Given the description of an element on the screen output the (x, y) to click on. 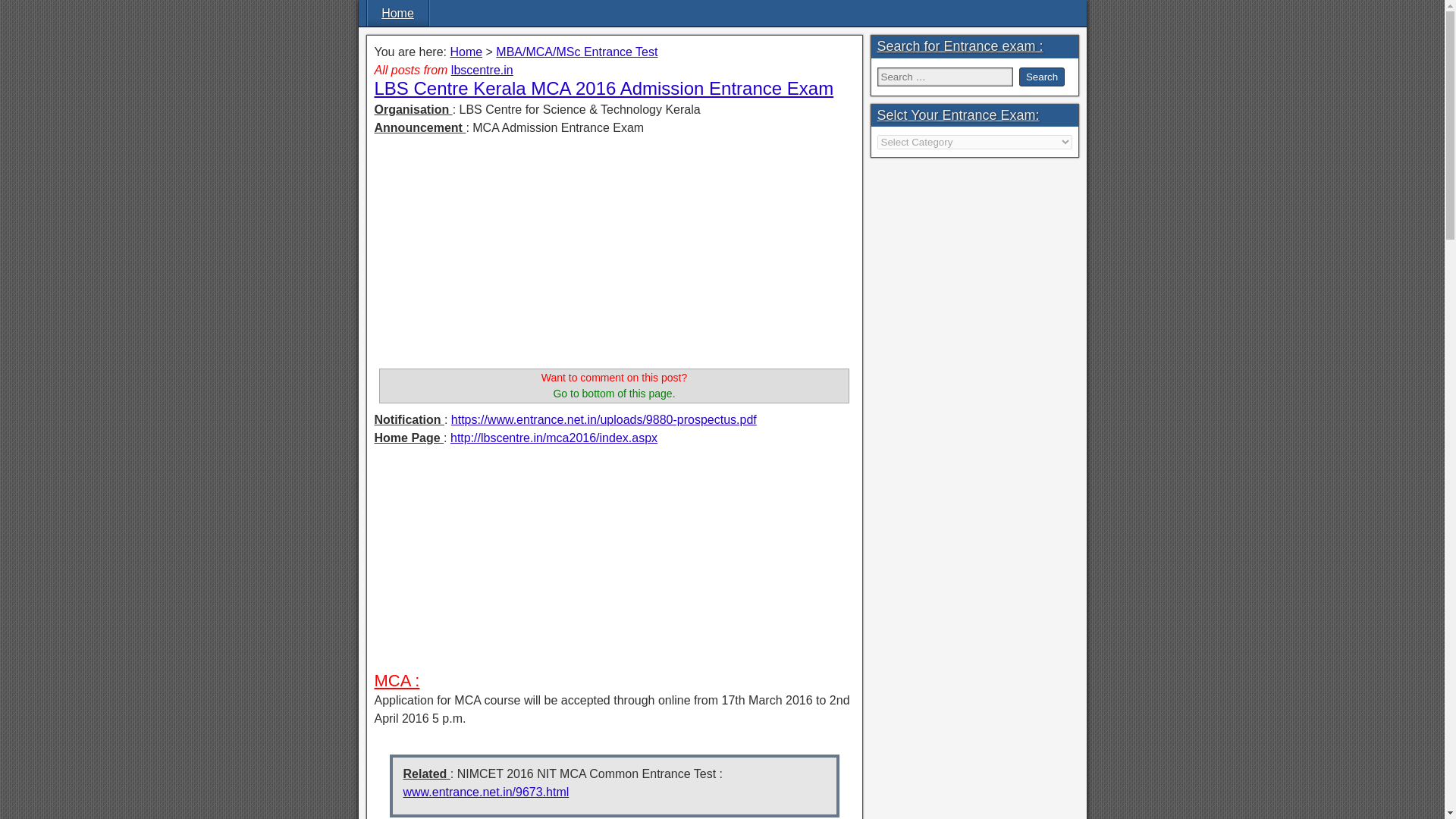
Search (1041, 76)
lbscentre.in (482, 69)
Advertisement (614, 254)
Search (1041, 76)
Advertisement (614, 564)
Home (397, 13)
Search (1041, 76)
Home (465, 51)
